Given the description of an element on the screen output the (x, y) to click on. 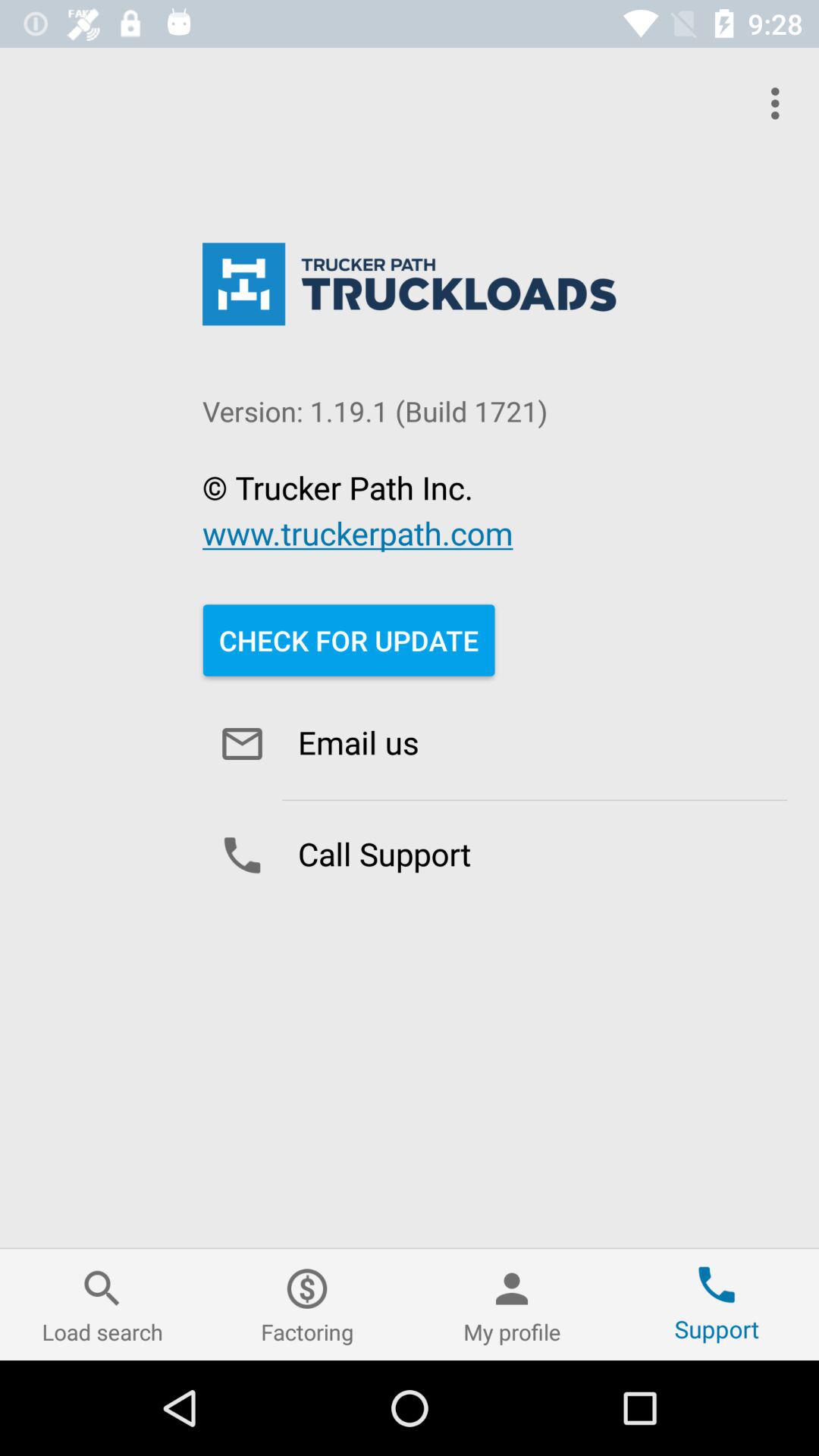
open item next to the factoring item (102, 1304)
